Given the description of an element on the screen output the (x, y) to click on. 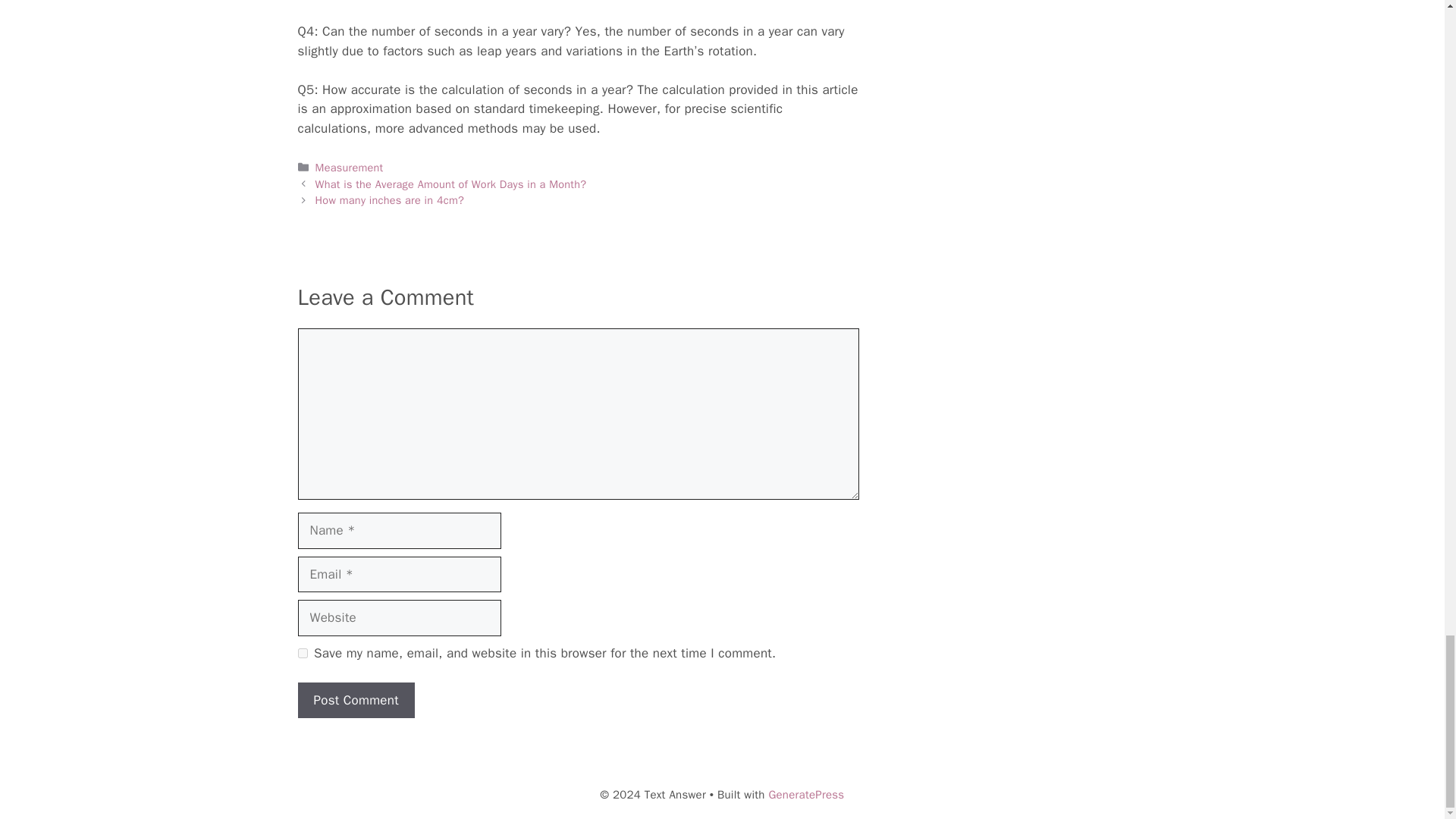
yes (302, 653)
How many inches are in 4cm? (389, 200)
Post Comment (355, 700)
Measurement (349, 167)
What is the Average Amount of Work Days in a Month? (450, 183)
Post Comment (355, 700)
